Given the description of an element on the screen output the (x, y) to click on. 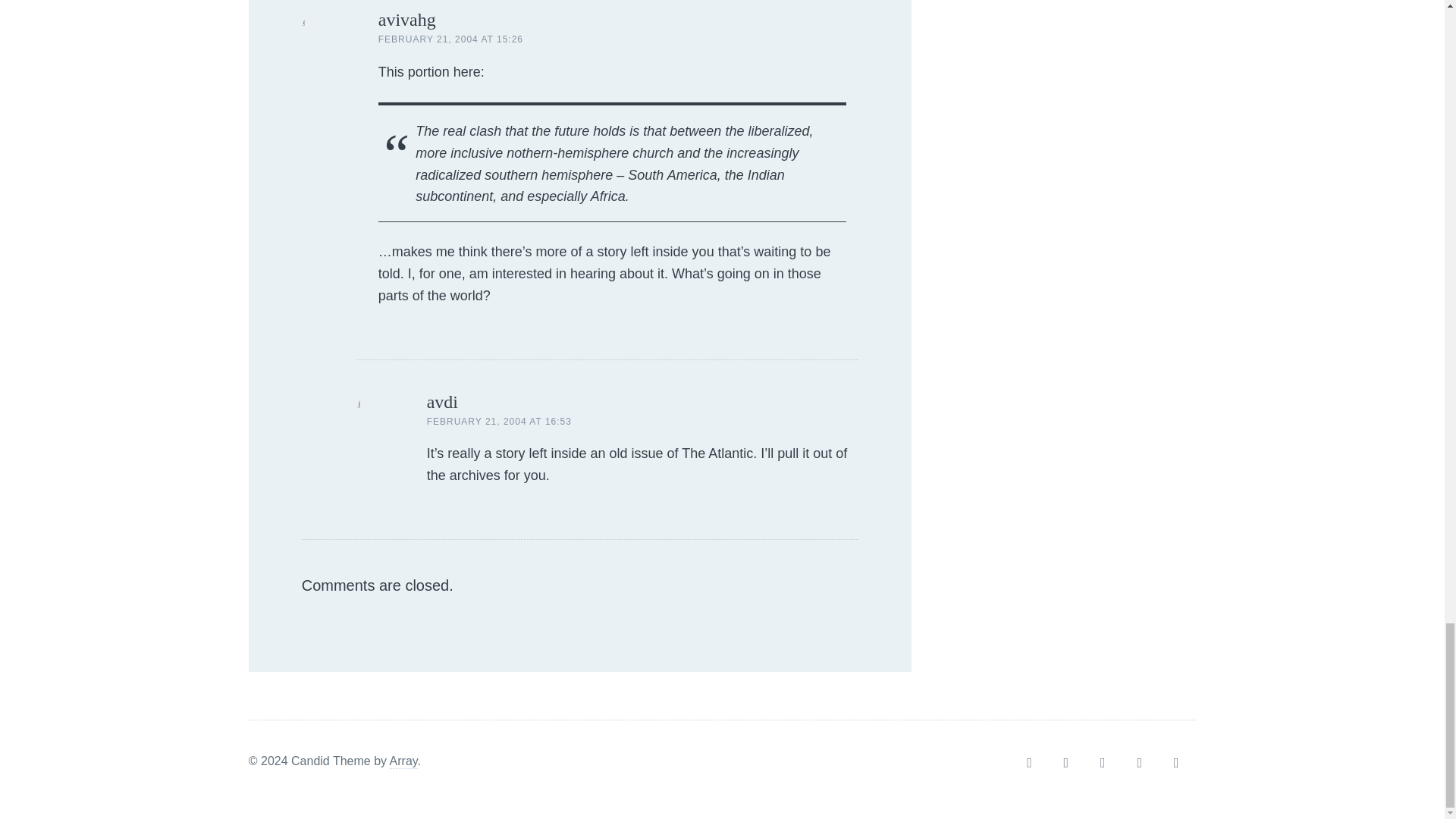
FEBRUARY 21, 2004 AT 15:26 (450, 39)
FEBRUARY 21, 2004 AT 16:53 (499, 421)
avdi (442, 401)
avivahg (406, 19)
